Given the description of an element on the screen output the (x, y) to click on. 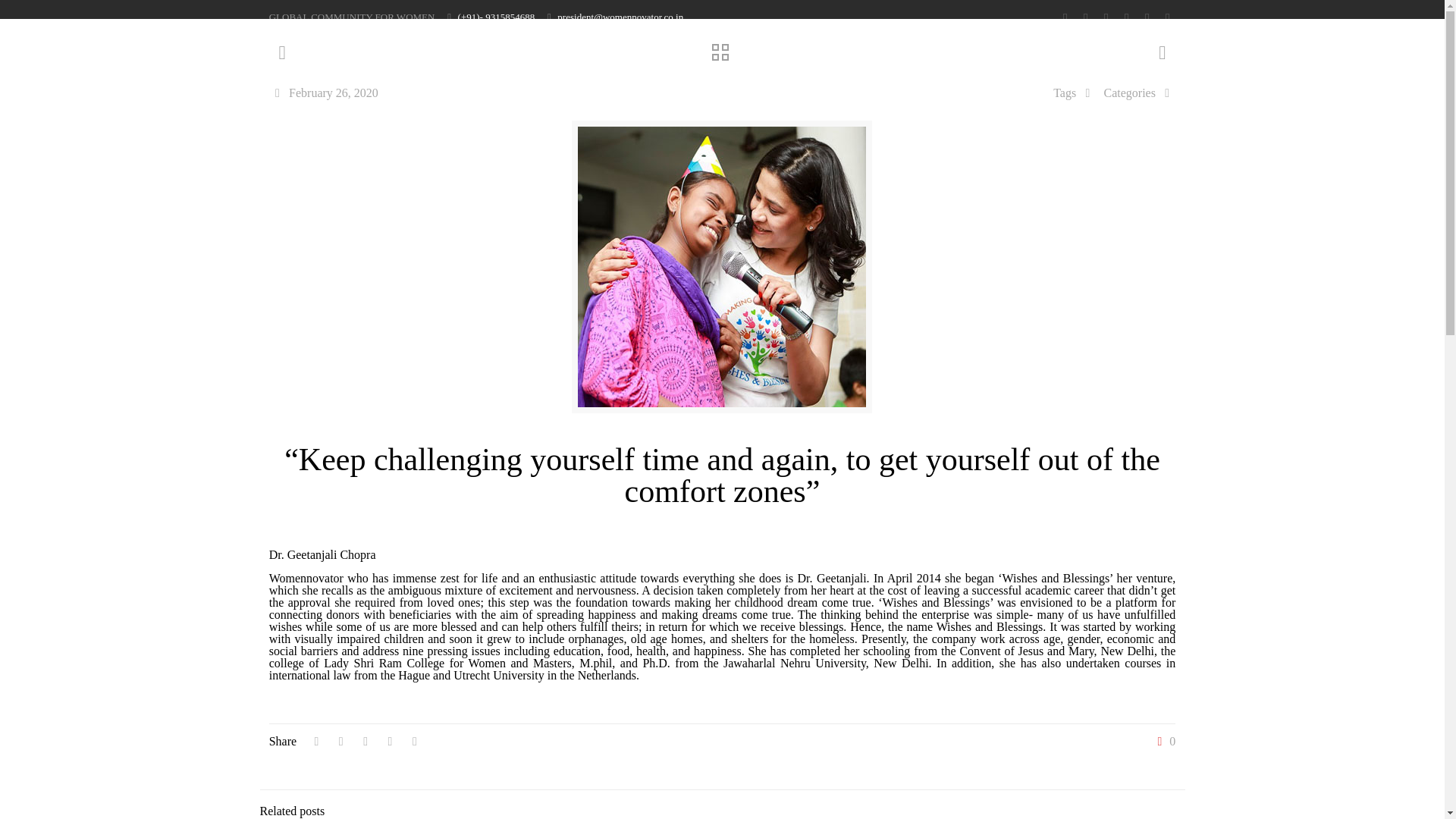
YouTube (1105, 17)
Twitter (1085, 17)
LinkedIn (1126, 17)
Instagram (1146, 17)
Facebook (1065, 17)
